Given the description of an element on the screen output the (x, y) to click on. 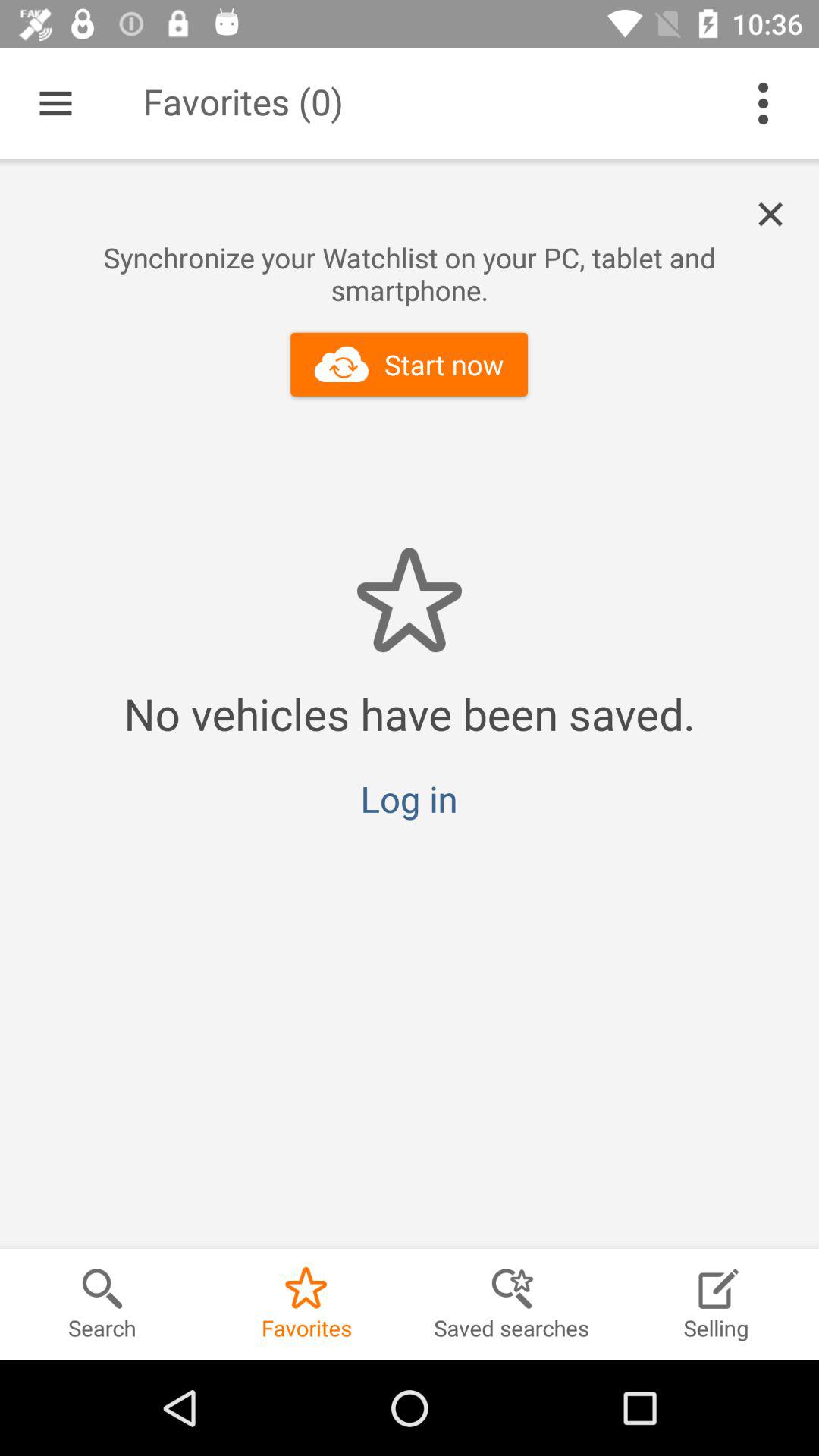
jump to the start now icon (408, 364)
